Given the description of an element on the screen output the (x, y) to click on. 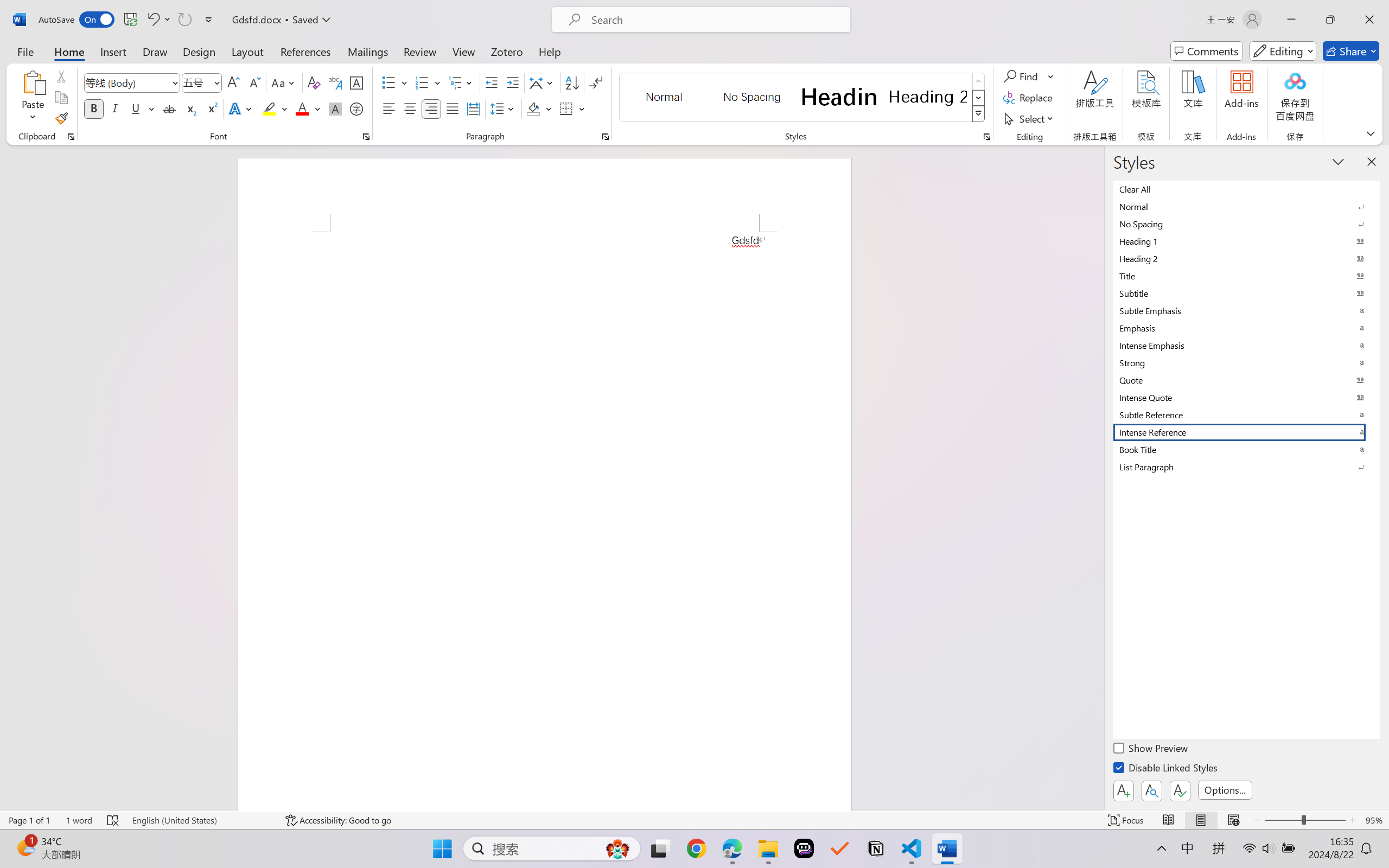
Text Effects and Typography (241, 108)
Spelling and Grammar Check Errors (113, 819)
Row Down (978, 97)
